Given the description of an element on the screen output the (x, y) to click on. 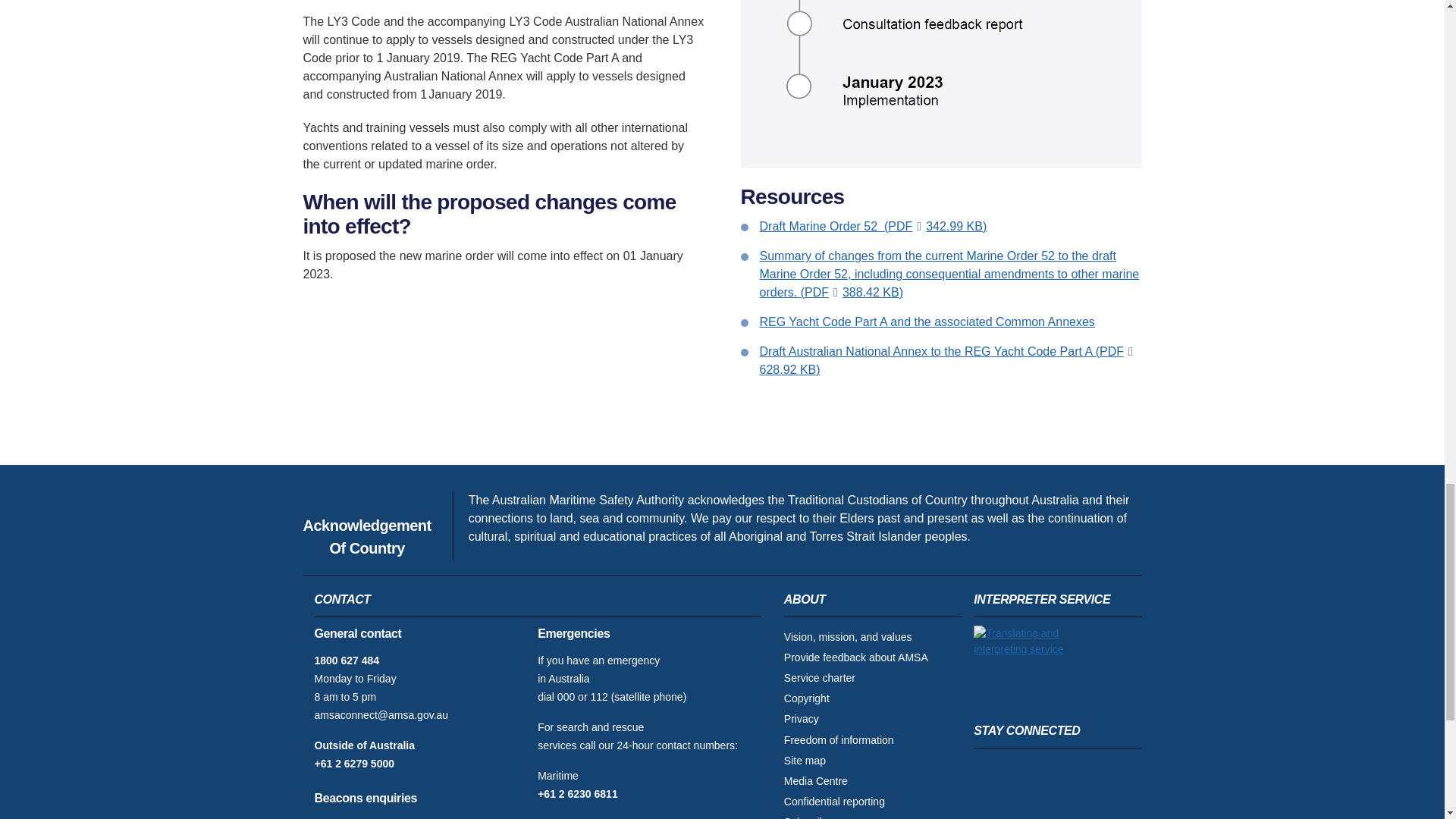
Follow us on Youtube (1114, 774)
Follow us on Twitter (1073, 774)
Follow us on Facebook (992, 774)
